Given the description of an element on the screen output the (x, y) to click on. 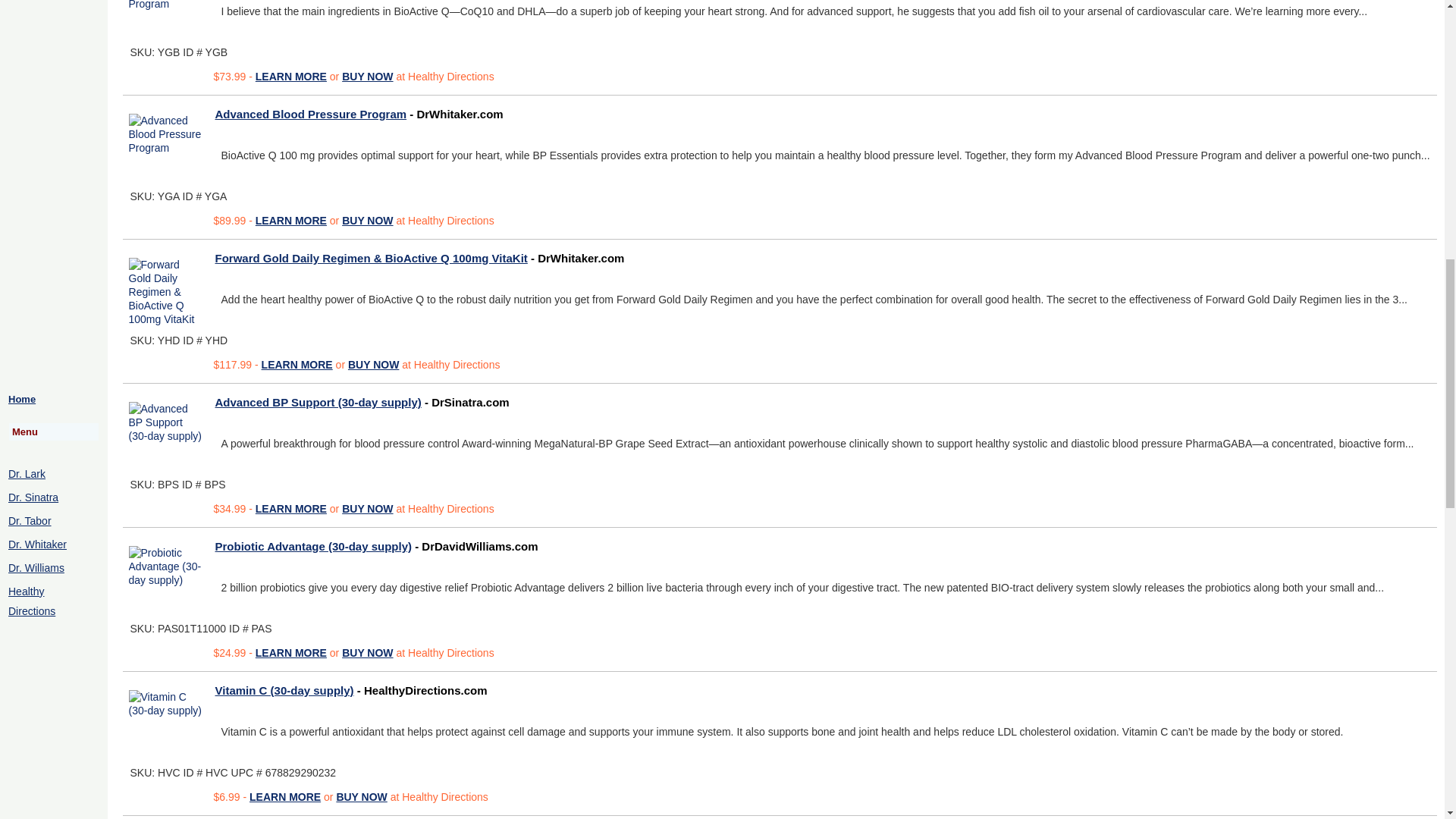
Advanced Blood Pressure Program (166, 133)
Dr. Lark (26, 472)
Dr. Sinatra (33, 497)
Dr. Williams (36, 567)
BUY NOW (367, 76)
Healthy Directions (31, 601)
Home (21, 398)
Advanced Heart Health Program (166, 8)
LEARN MORE (291, 76)
Dr. Whitaker (37, 544)
Dr. Tabor (29, 520)
